Given the description of an element on the screen output the (x, y) to click on. 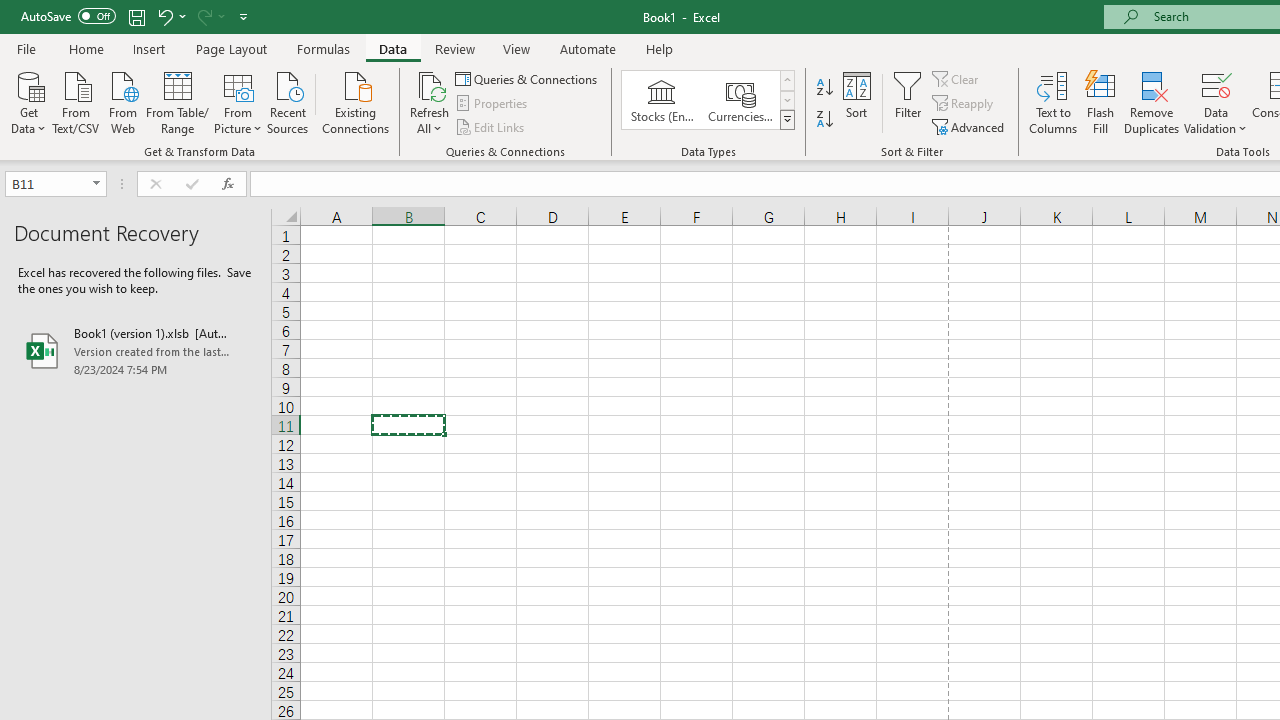
From Picture (238, 101)
Sort Z to A (824, 119)
Sort A to Z (824, 87)
